Given the description of an element on the screen output the (x, y) to click on. 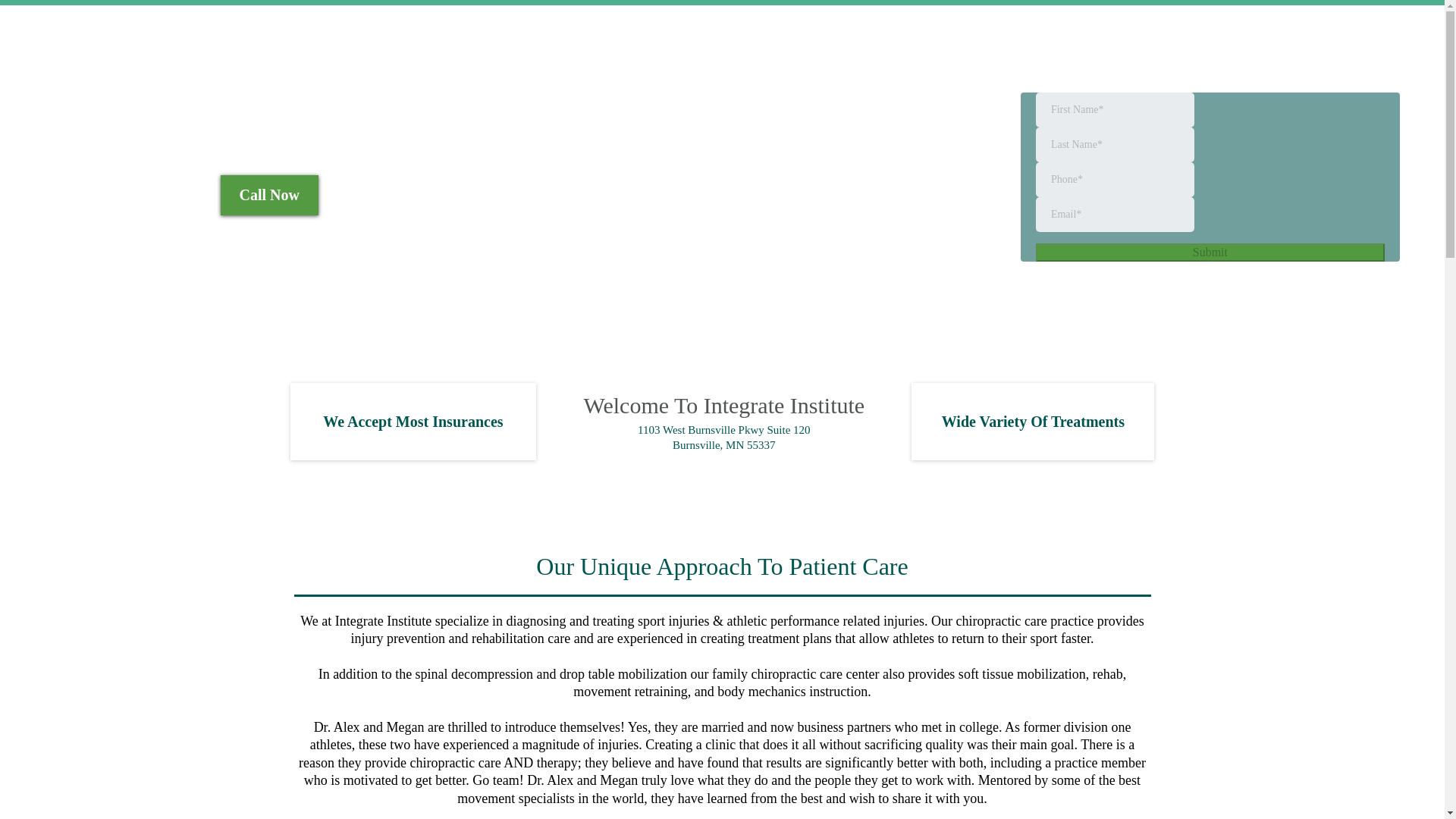
Submit (1209, 252)
Call Now (269, 195)
